Given the description of an element on the screen output the (x, y) to click on. 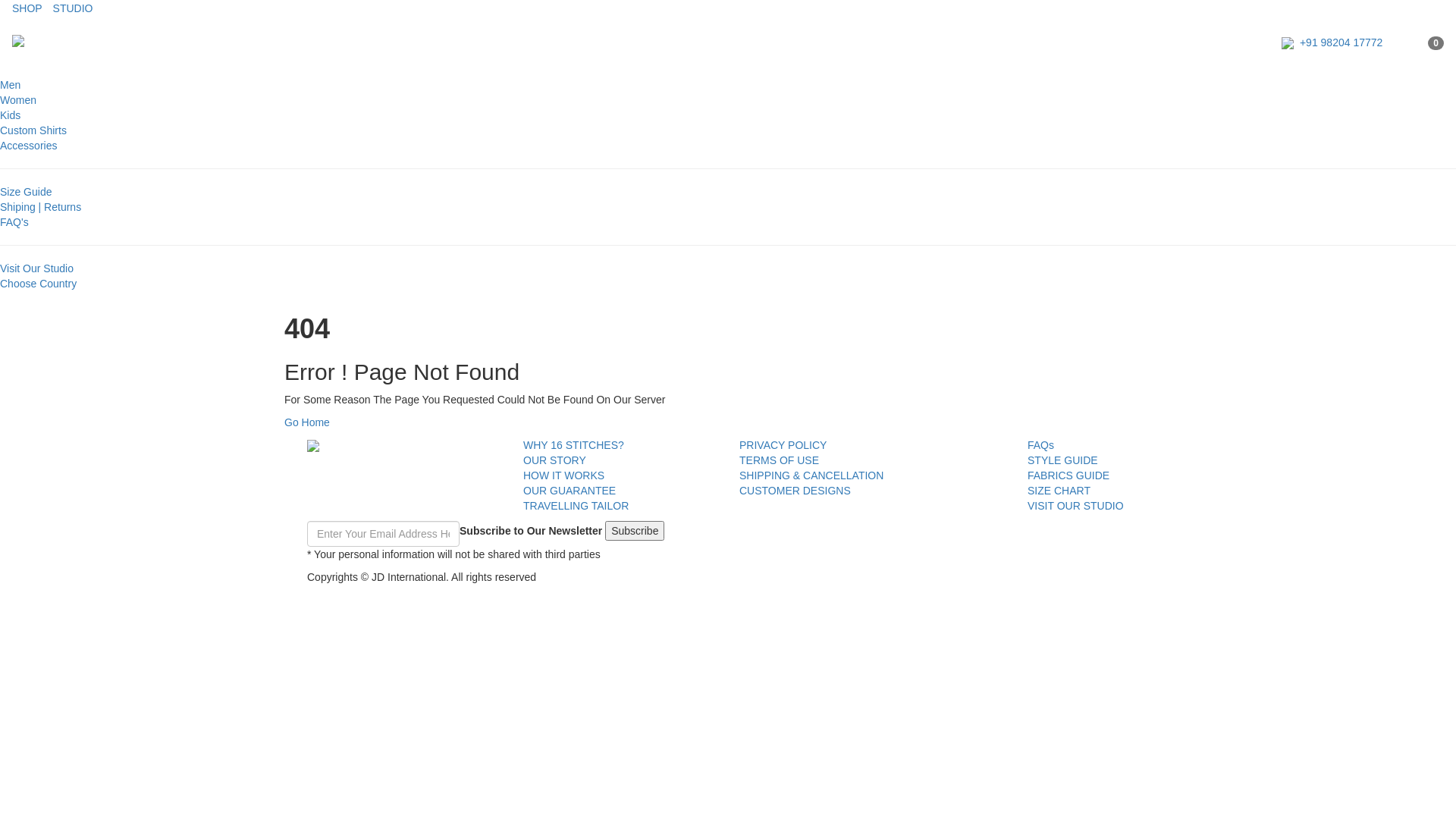
CUSTOMER DESIGNS Element type: text (794, 490)
SIZE CHART Element type: text (1058, 490)
Go Home Element type: text (306, 422)
WHY 16 STITCHES? Element type: text (573, 445)
Accessories Element type: text (28, 145)
SHIPPING & CANCELLATION Element type: text (811, 475)
OUR GUARANTEE Element type: text (569, 490)
Shiping | Returns Element type: text (40, 206)
0 Element type: text (1435, 42)
FABRICS GUIDE Element type: text (1068, 475)
FAQ's Element type: text (14, 222)
PRIVACY POLICY Element type: text (782, 445)
VISIT OUR STUDIO Element type: text (1075, 505)
  +91 98204 17772 Element type: text (1331, 42)
Subscribe Element type: text (634, 530)
Kids Element type: text (10, 115)
Size Guide Element type: text (25, 191)
Visit Our Studio Element type: text (36, 268)
Choose Country Element type: text (38, 283)
Custom Shirts Element type: text (33, 130)
STUDIO Element type: text (73, 8)
Women Element type: text (18, 100)
Men Element type: text (10, 84)
SHOP Element type: text (27, 8)
OUR STORY Element type: text (554, 460)
STYLE GUIDE Element type: text (1062, 460)
TRAVELLING TAILOR Element type: text (575, 505)
FAQs Element type: text (1040, 445)
TERMS OF USE Element type: text (779, 460)
HOW IT WORKS Element type: text (563, 475)
